Given the description of an element on the screen output the (x, y) to click on. 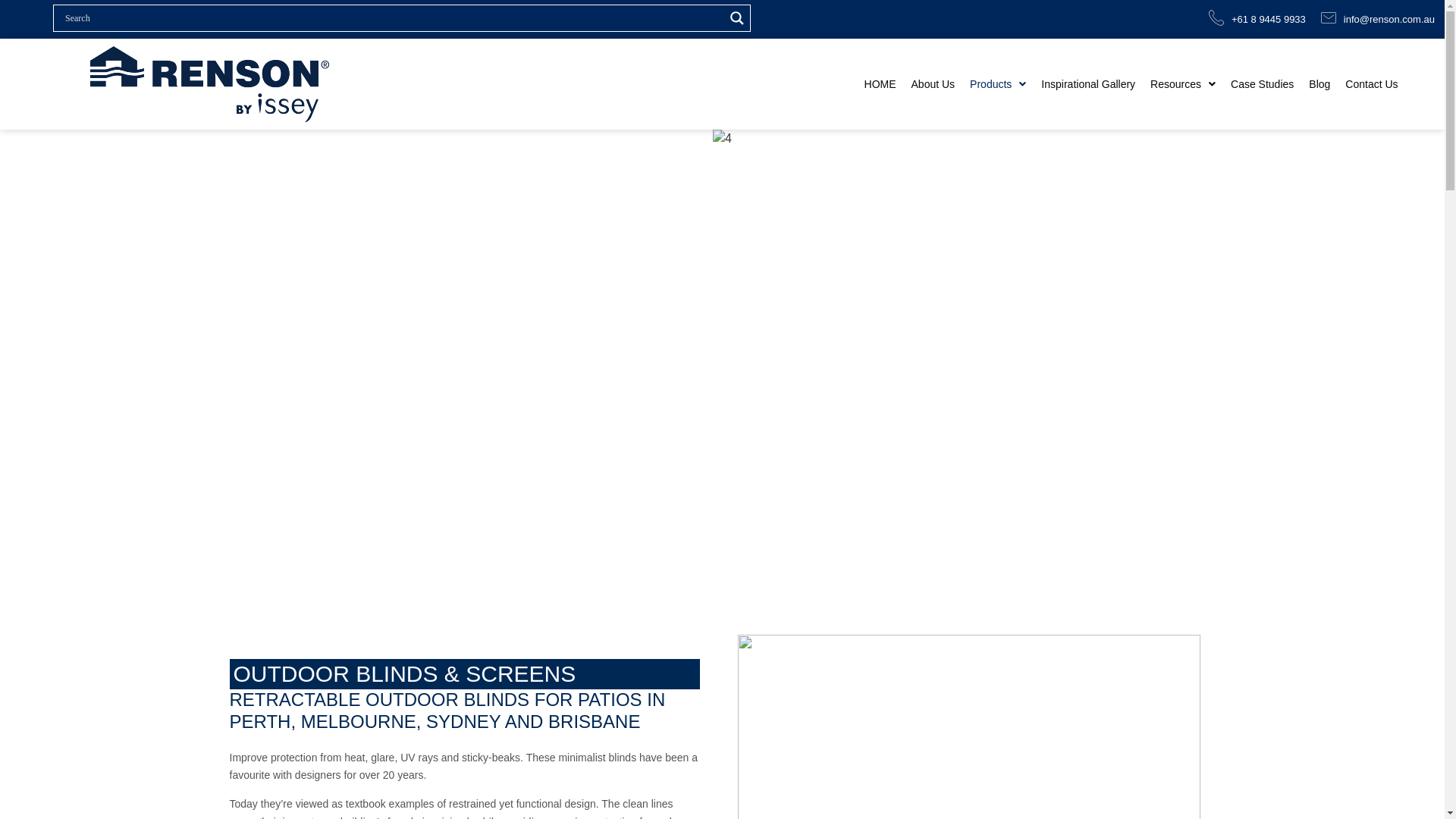
Resources Element type: text (1182, 83)
info@renson.com.au Element type: text (1377, 18)
Products Element type: text (997, 83)
Contact Us Element type: text (1371, 83)
About Us Element type: text (933, 83)
Case Studies Element type: text (1262, 83)
Inspirational Gallery Element type: text (1087, 83)
+61 8 9445 9933 Element type: text (1256, 18)
HOME Element type: text (879, 83)
Blog Element type: text (1319, 83)
